Given the description of an element on the screen output the (x, y) to click on. 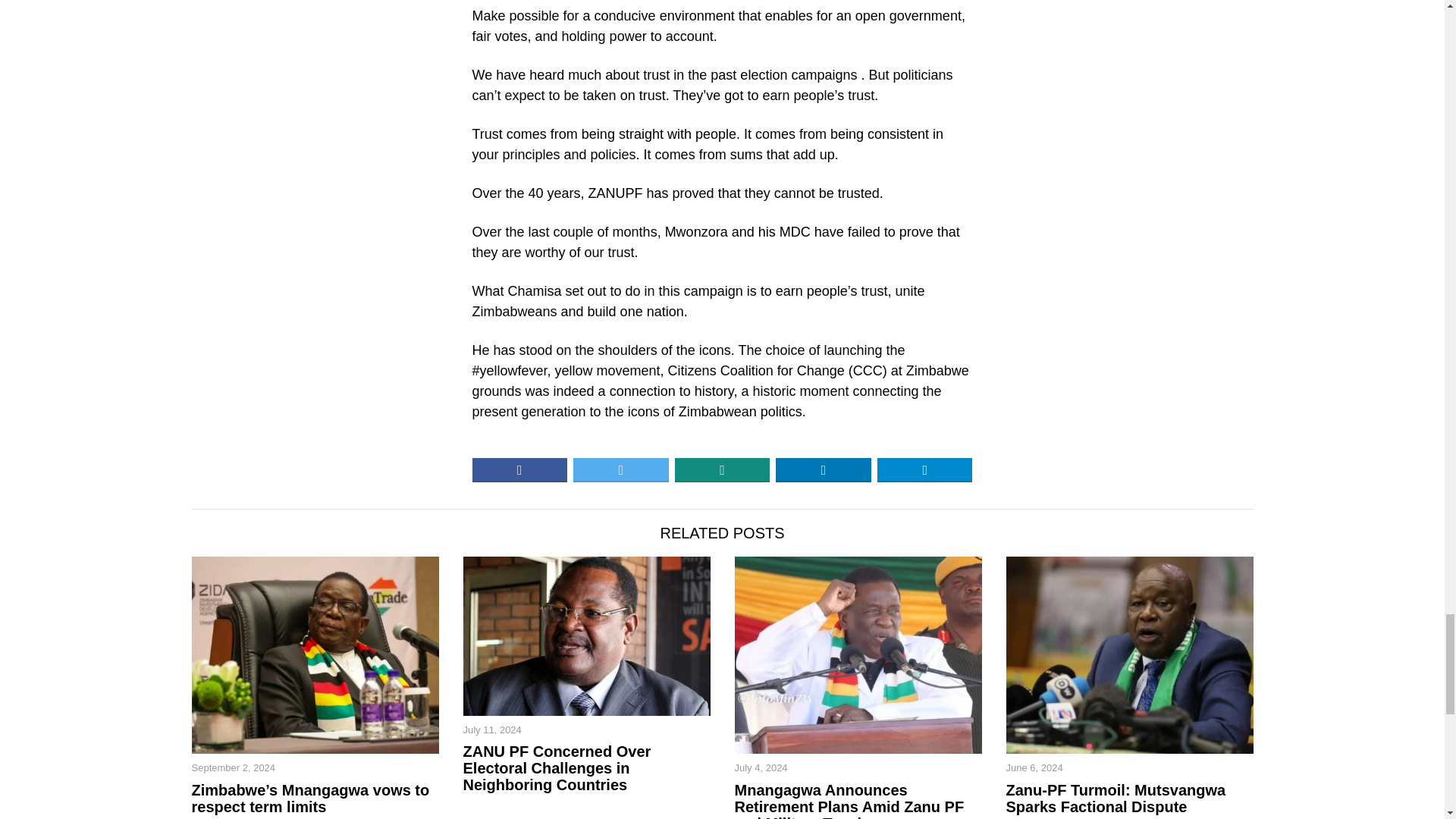
02 Sep, 2024 22:01:21 (232, 767)
11 Jul, 2024 15:41:44 (492, 730)
